Given the description of an element on the screen output the (x, y) to click on. 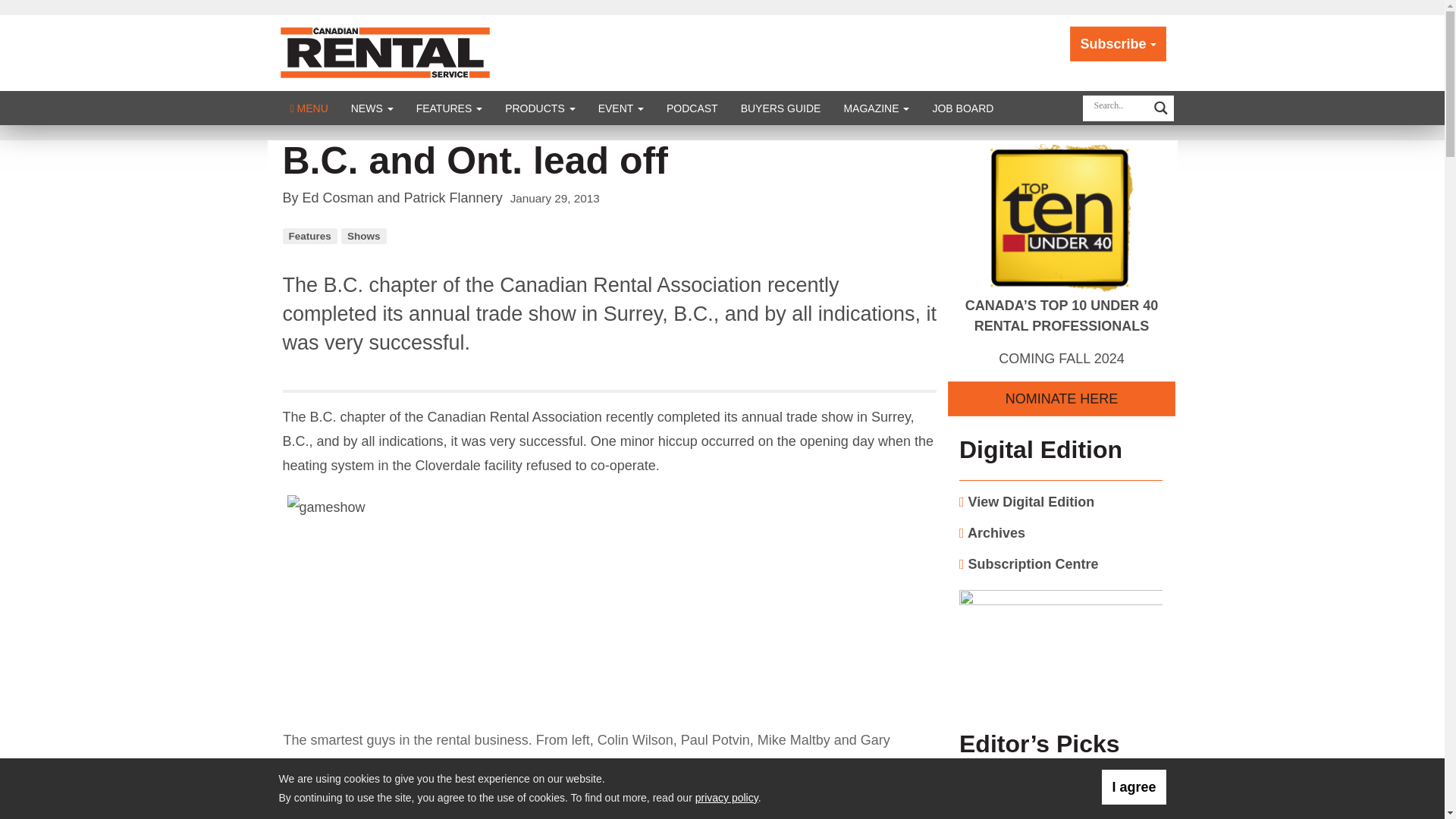
PRODUCTS (539, 107)
gameshow (437, 608)
Subscribe (1118, 43)
Click to show site navigation (309, 107)
EVENT (620, 107)
Canadian Rental Service (385, 52)
NEWS (371, 107)
FEATURES (449, 107)
MENU (309, 107)
